Given the description of an element on the screen output the (x, y) to click on. 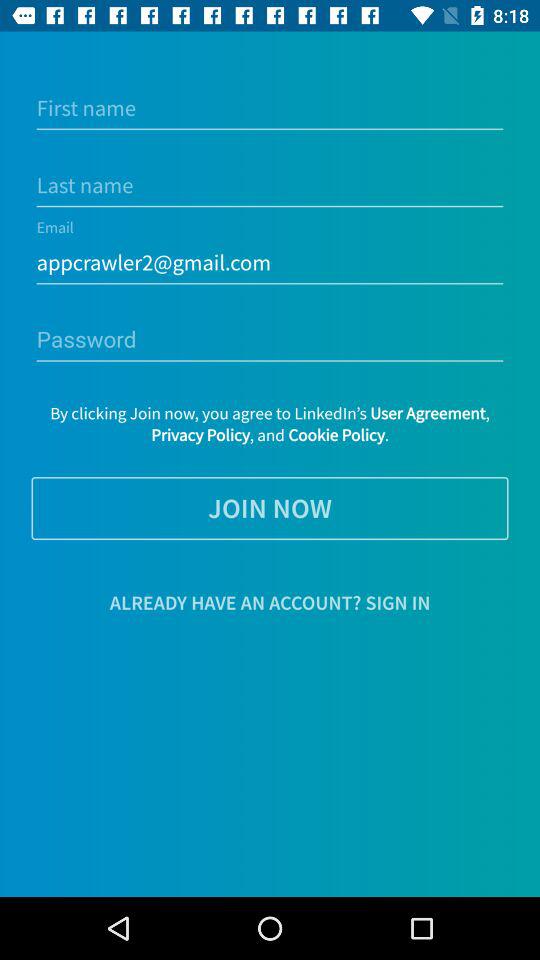
click appcrawler2@gmail.com icon (269, 262)
